Given the description of an element on the screen output the (x, y) to click on. 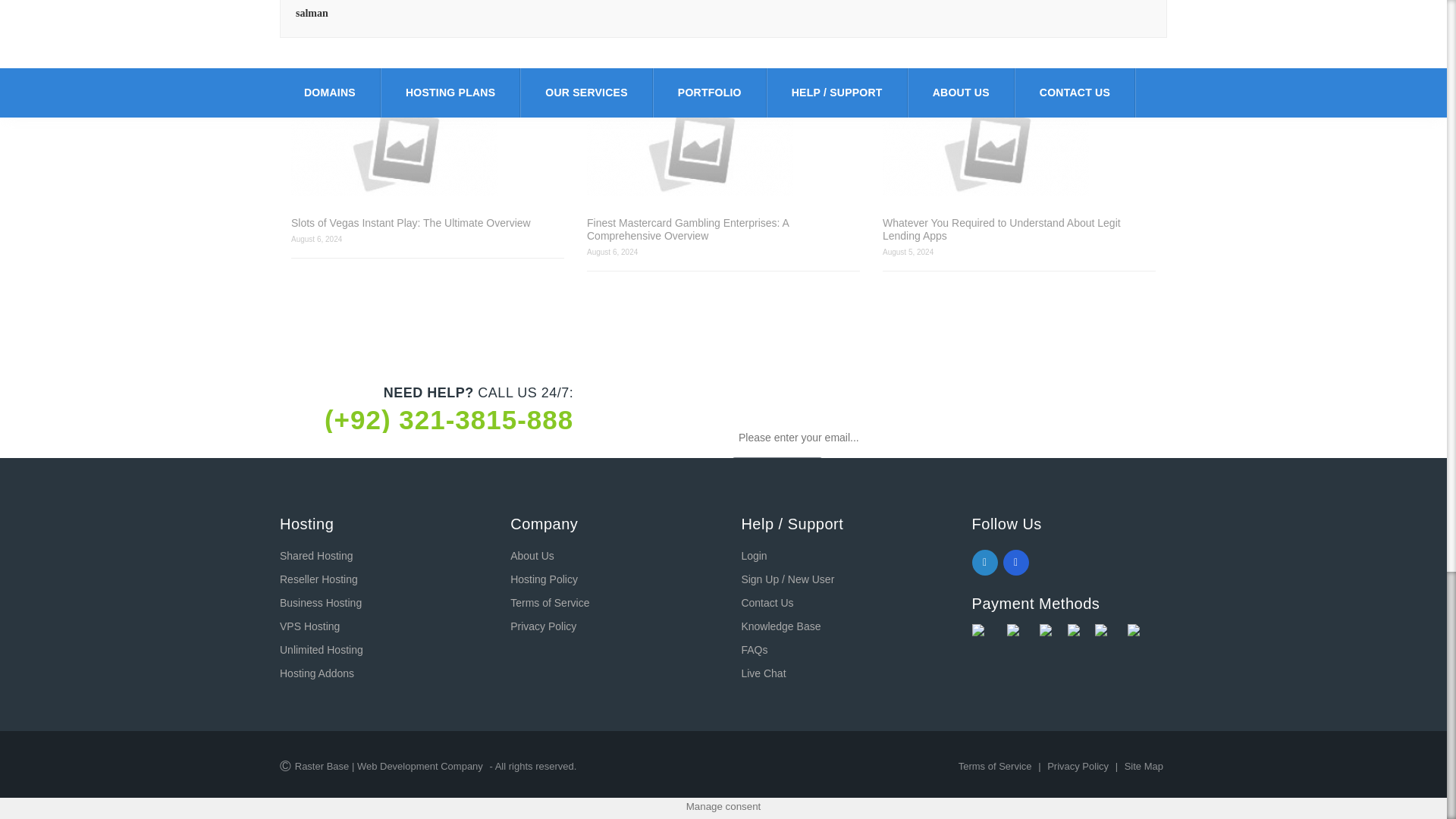
Sign Up (777, 476)
